Given the description of an element on the screen output the (x, y) to click on. 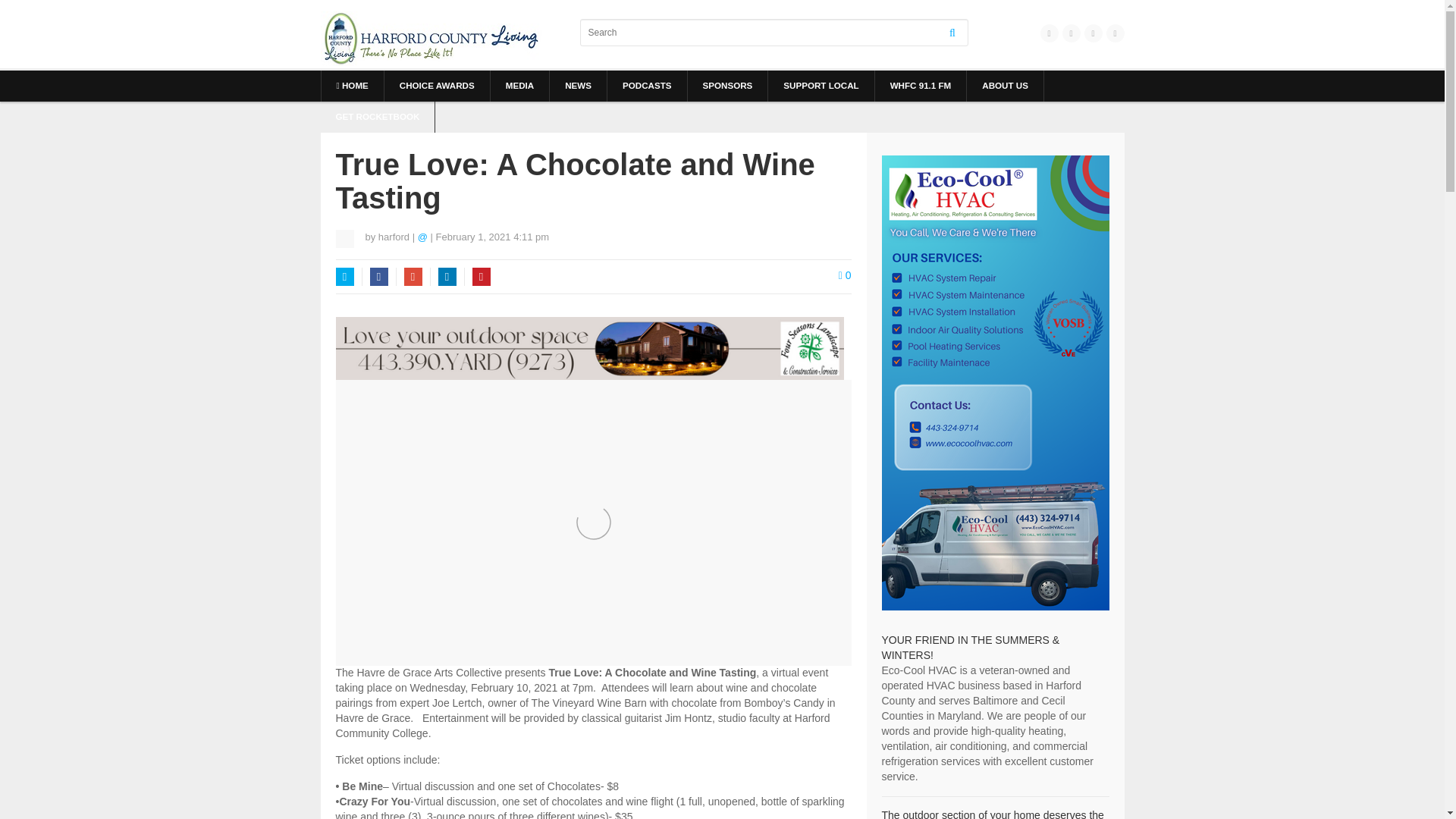
PODCASTS (647, 85)
SUPPORT LOCAL (820, 85)
SPONSORS (727, 85)
WHFC 91.1 FM (920, 85)
CHOICE AWARDS (436, 85)
Eco-Cool HVAC (969, 646)
Facebook (378, 276)
LinkedIn (447, 276)
0 (844, 275)
NEWS (578, 85)
